Given the description of an element on the screen output the (x, y) to click on. 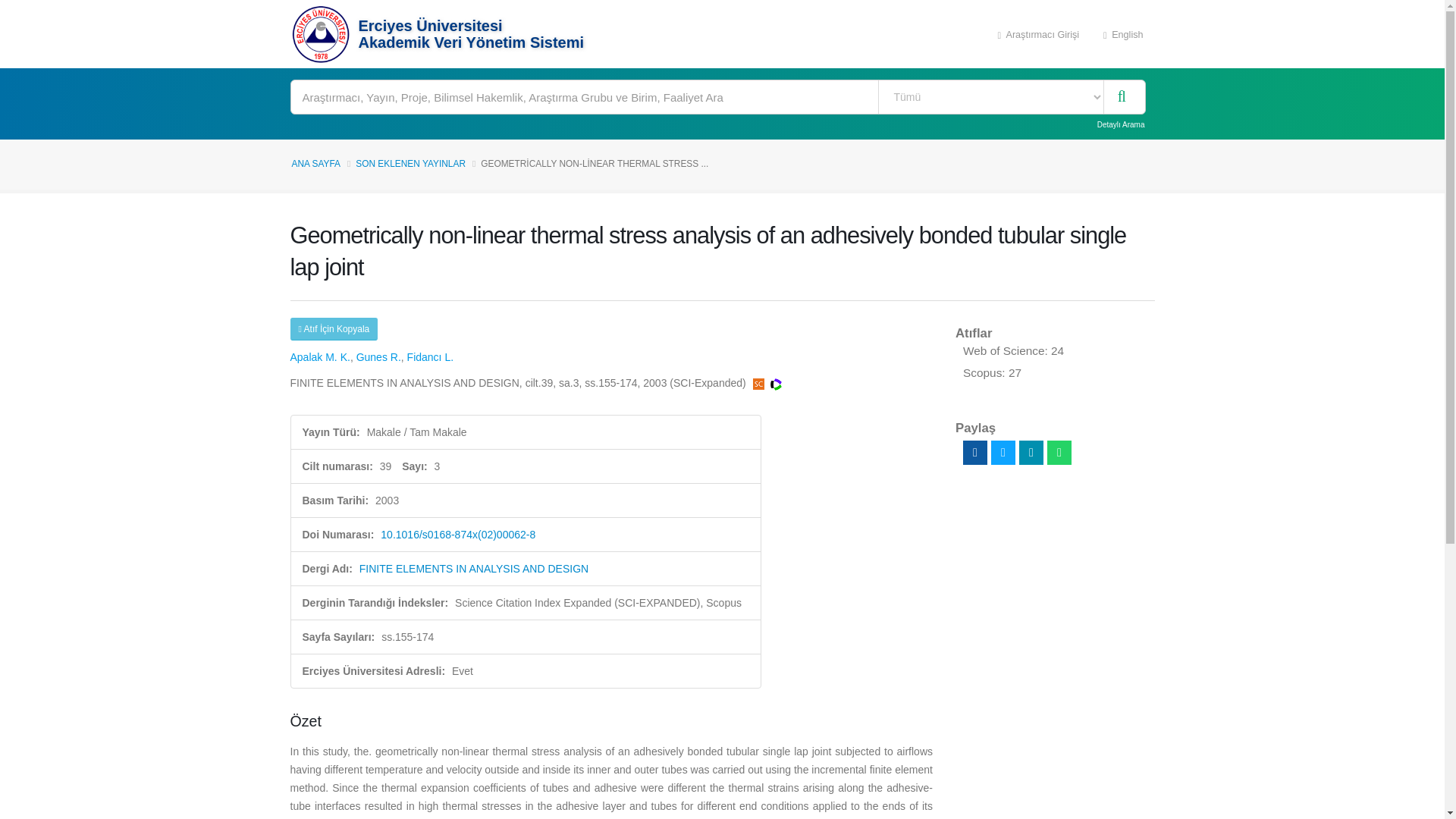
SON EKLENEN YAYINLAR (410, 163)
ANA SAYFA (315, 163)
FINITE ELEMENTS IN ANALYSIS AND DESIGN (473, 568)
Apalak M. K. (319, 357)
Gunes R. (378, 357)
English (1123, 33)
